Given the description of an element on the screen output the (x, y) to click on. 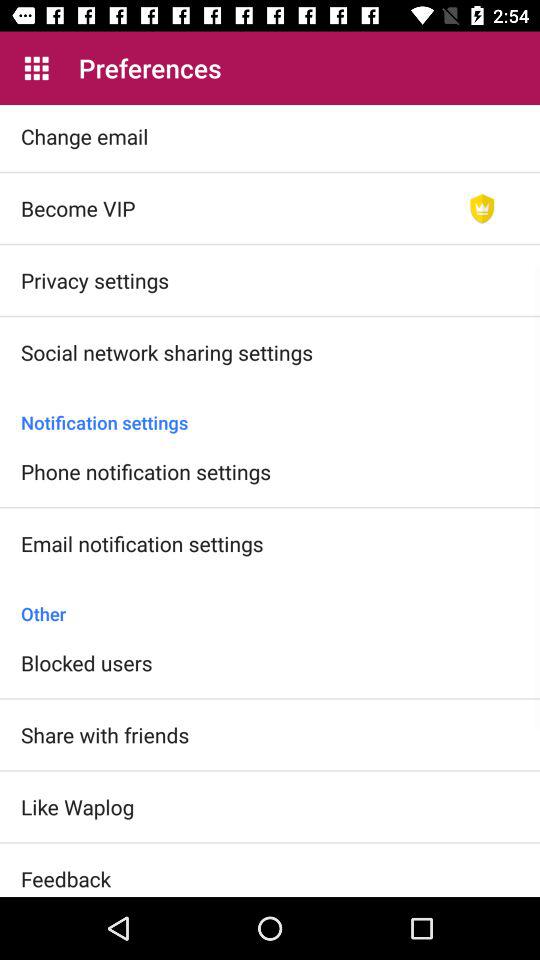
turn off item above the notification settings item (482, 208)
